Given the description of an element on the screen output the (x, y) to click on. 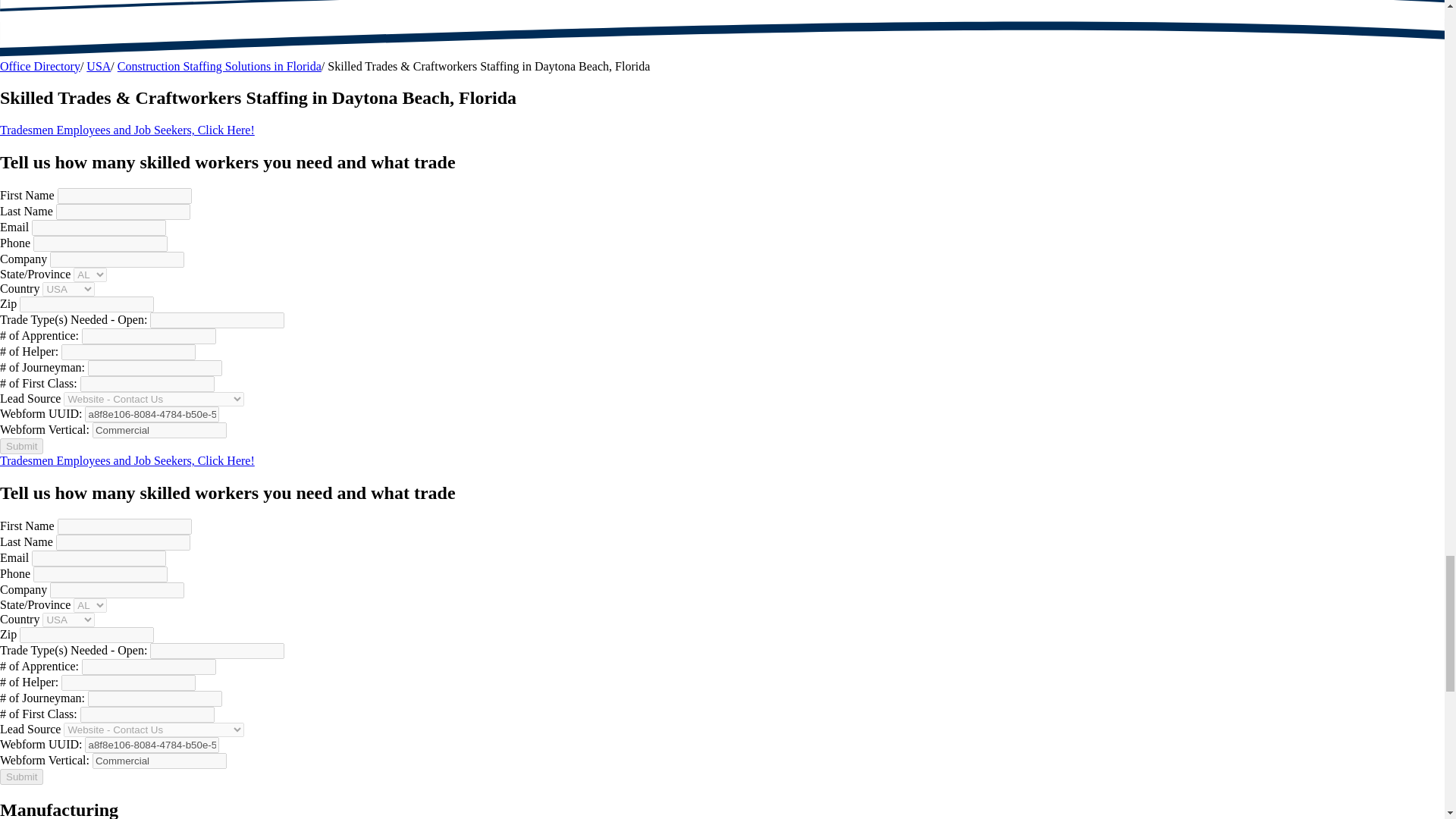
Go to Office Directory. (40, 65)
Commercial (160, 430)
Go to USA. (97, 65)
Submit (21, 446)
Go to Construction Staffing Solutions in Florida. (219, 65)
a8f8e106-8084-4784-b50e-55fa69dddb19 (151, 414)
